Given the description of an element on the screen output the (x, y) to click on. 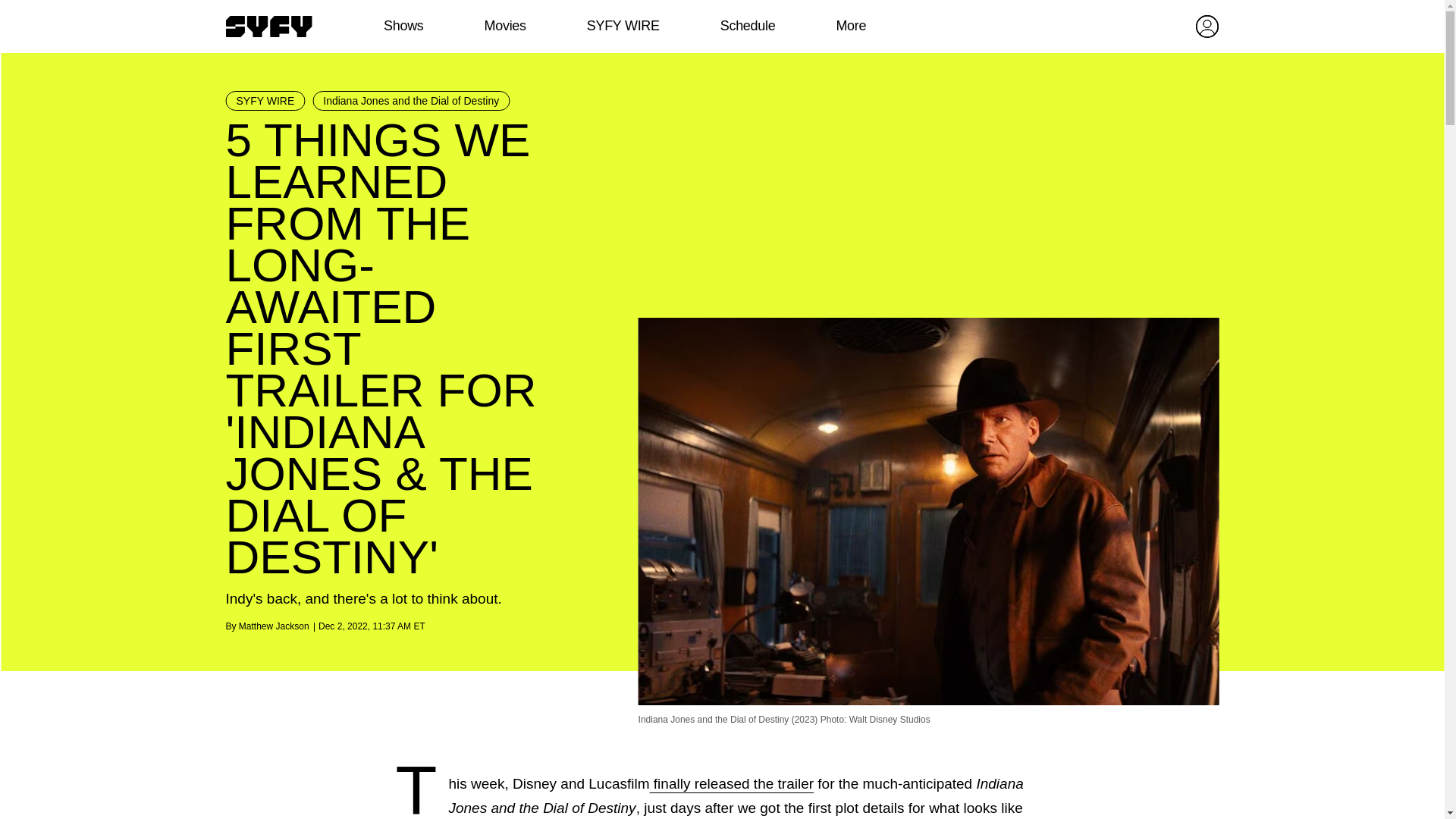
Shows (403, 26)
Matthew Jackson (273, 625)
Schedule (746, 26)
SYFY WIRE (265, 100)
finally released the trailer (731, 783)
SYFY WIRE (622, 26)
Movies (504, 26)
Indiana Jones and the Dial of Destiny (411, 100)
More (850, 26)
